Given the description of an element on the screen output the (x, y) to click on. 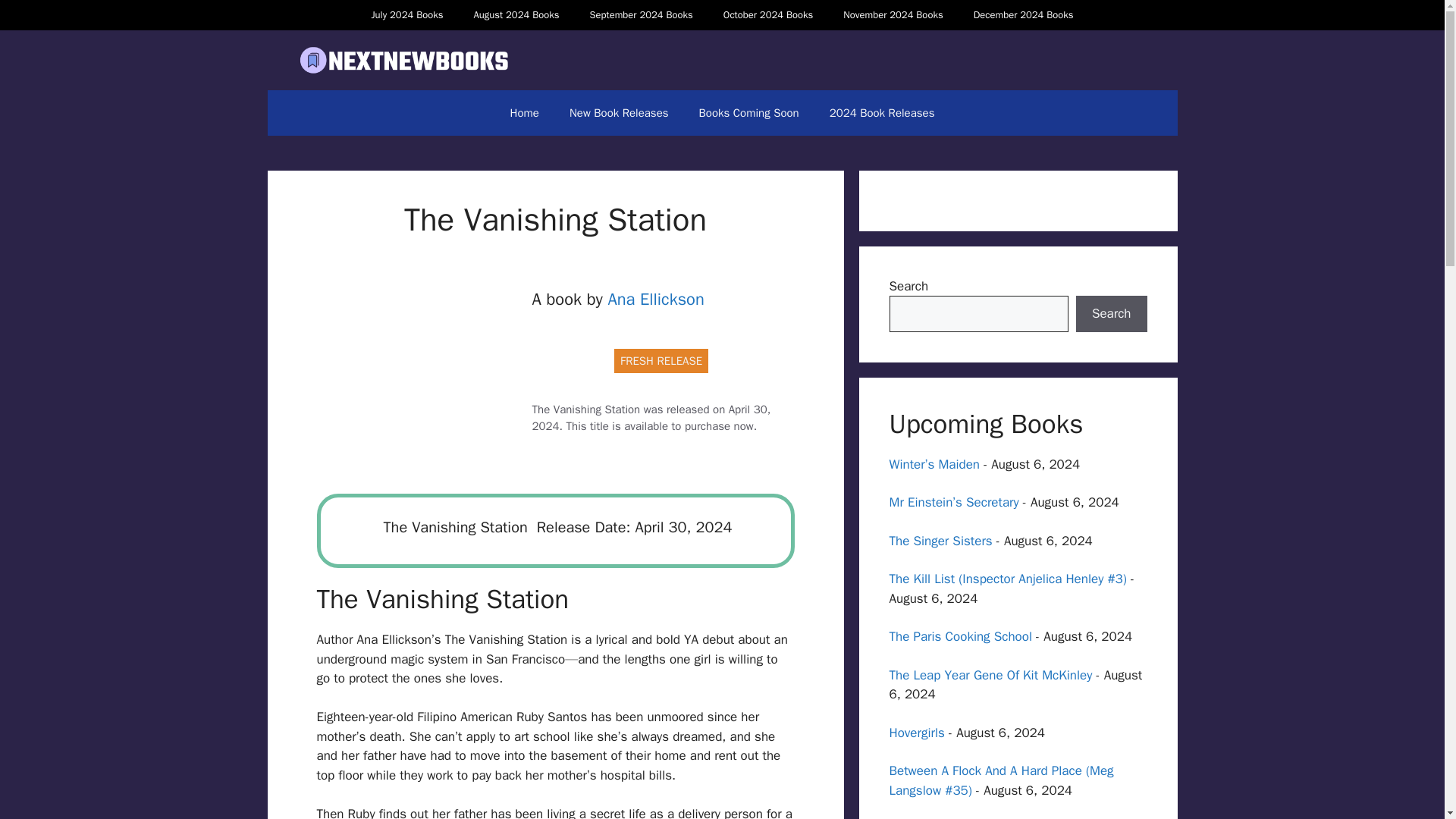
September 2024 Books (640, 15)
Ana Ellickson (655, 299)
2024 Book Releases (881, 112)
FRESH RELEASE (660, 360)
Books Coming Soon (748, 112)
New Book Releases (619, 112)
August 2024 Books (515, 15)
July 2024 Books (406, 15)
Home (524, 112)
November 2024 Books (893, 15)
October 2024 Books (767, 15)
December 2024 Books (1023, 15)
